Given the description of an element on the screen output the (x, y) to click on. 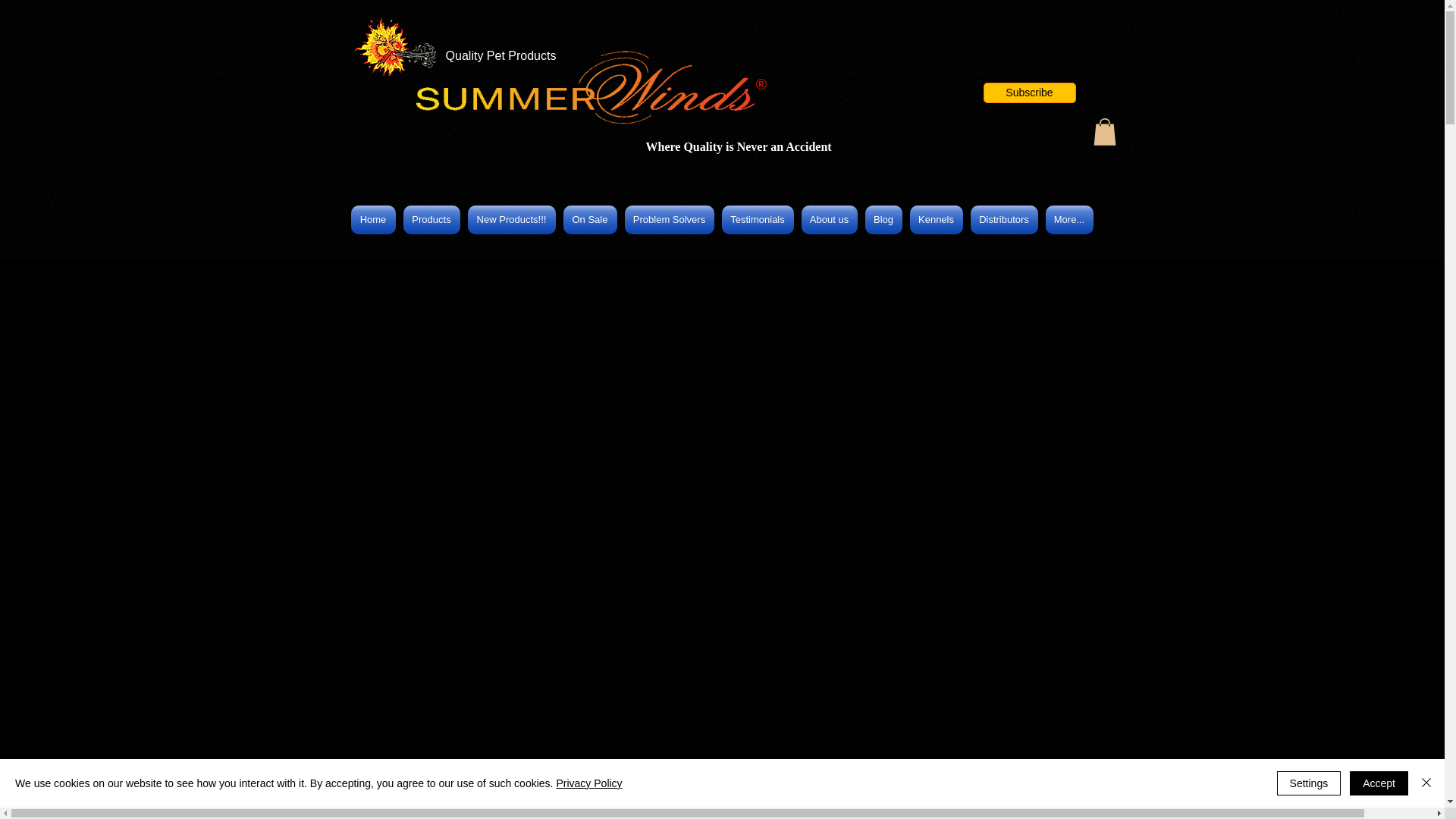
About us (829, 219)
SUN Logo with Transparent Back Ground.png (392, 44)
Products (430, 219)
Home (374, 219)
On Sale (590, 219)
New Products!!! (511, 219)
SummeWinds Logo (581, 87)
Subscribe (1028, 92)
Blog (883, 219)
Testimonials (756, 219)
